Given the description of an element on the screen output the (x, y) to click on. 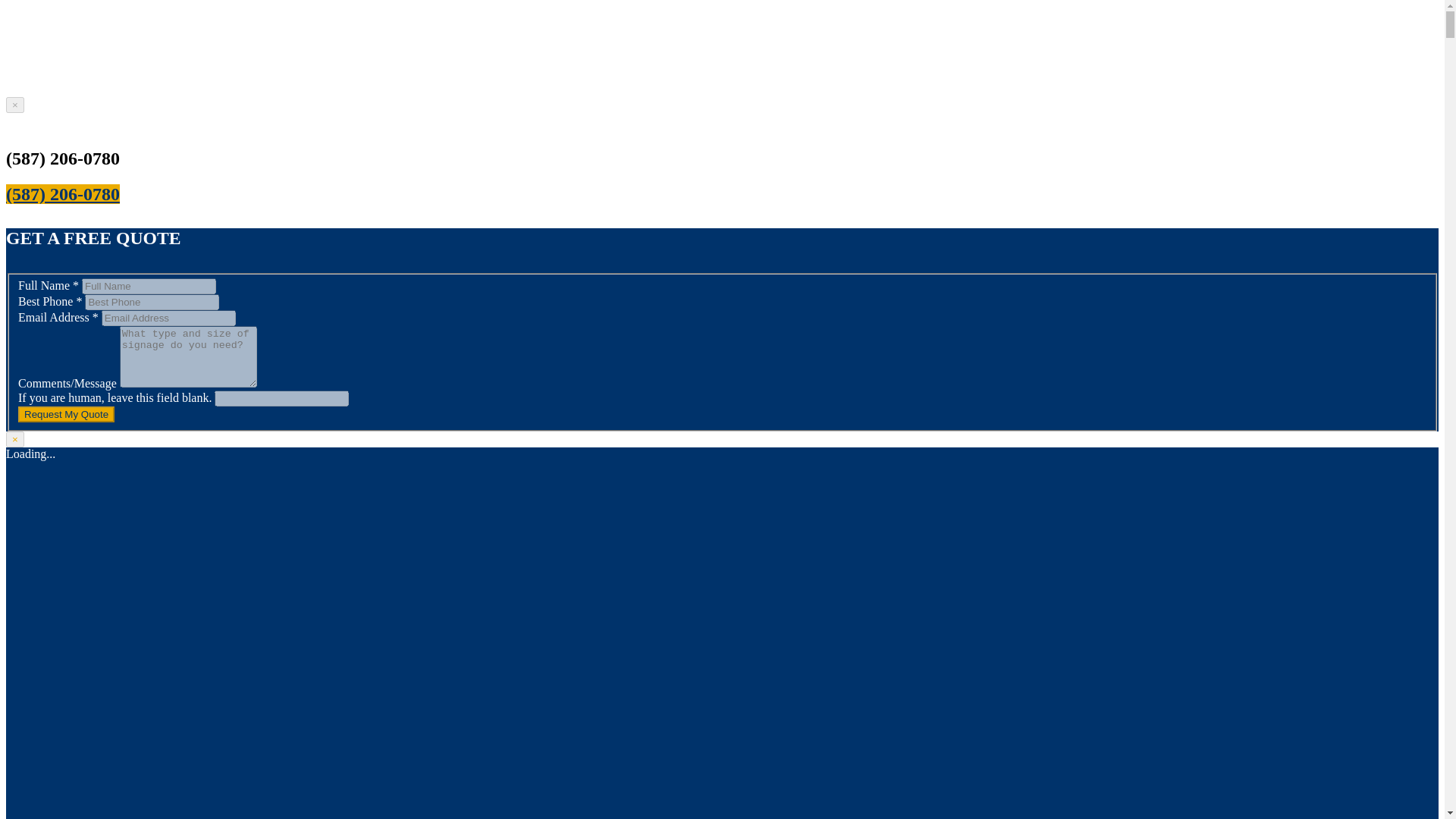
Request My Quote (66, 414)
